Given the description of an element on the screen output the (x, y) to click on. 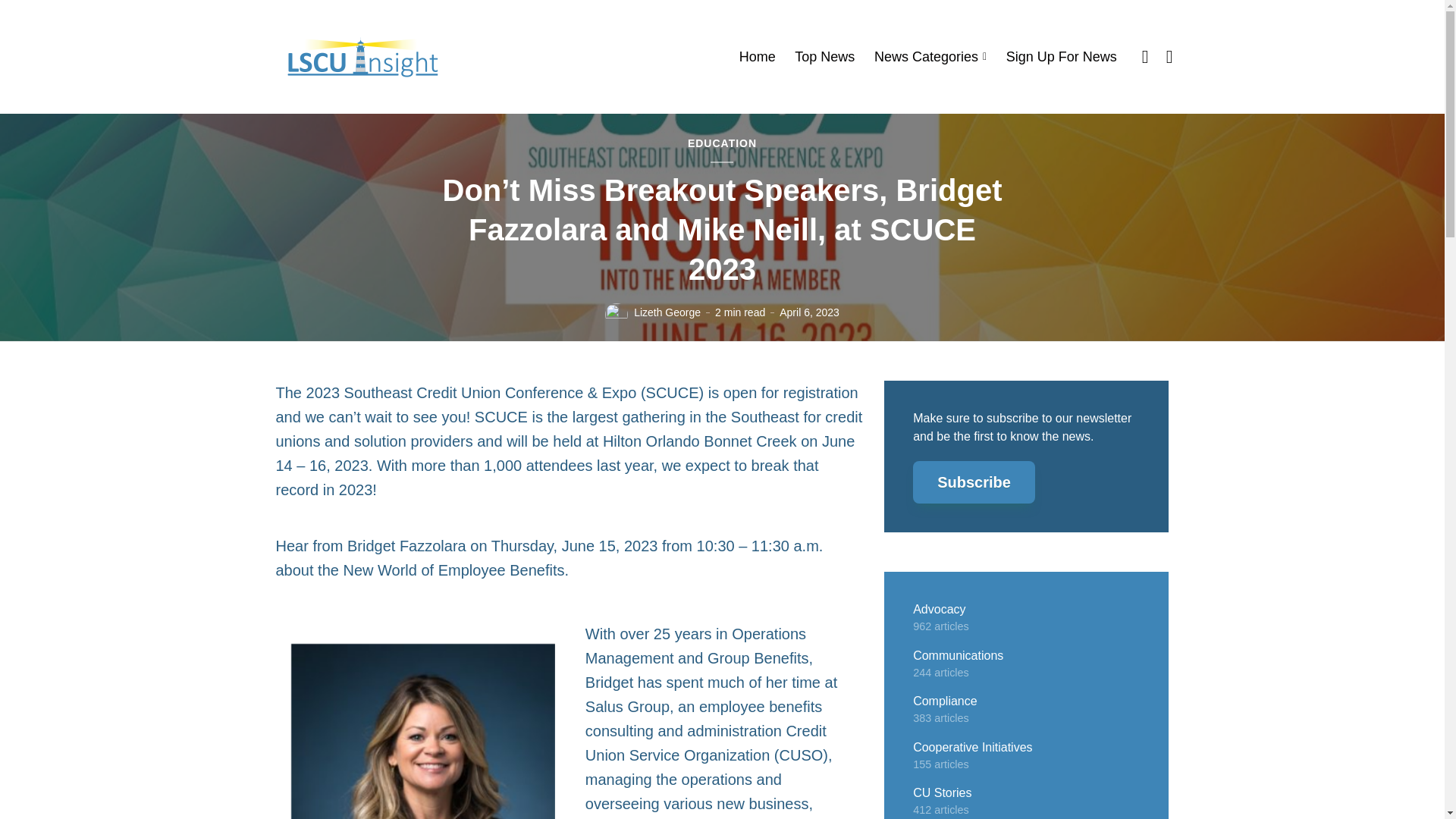
Sign Up For News (1061, 56)
Top News (824, 56)
Home (757, 56)
Lizeth George (666, 312)
EDUCATION (722, 143)
News Categories (931, 56)
